Given the description of an element on the screen output the (x, y) to click on. 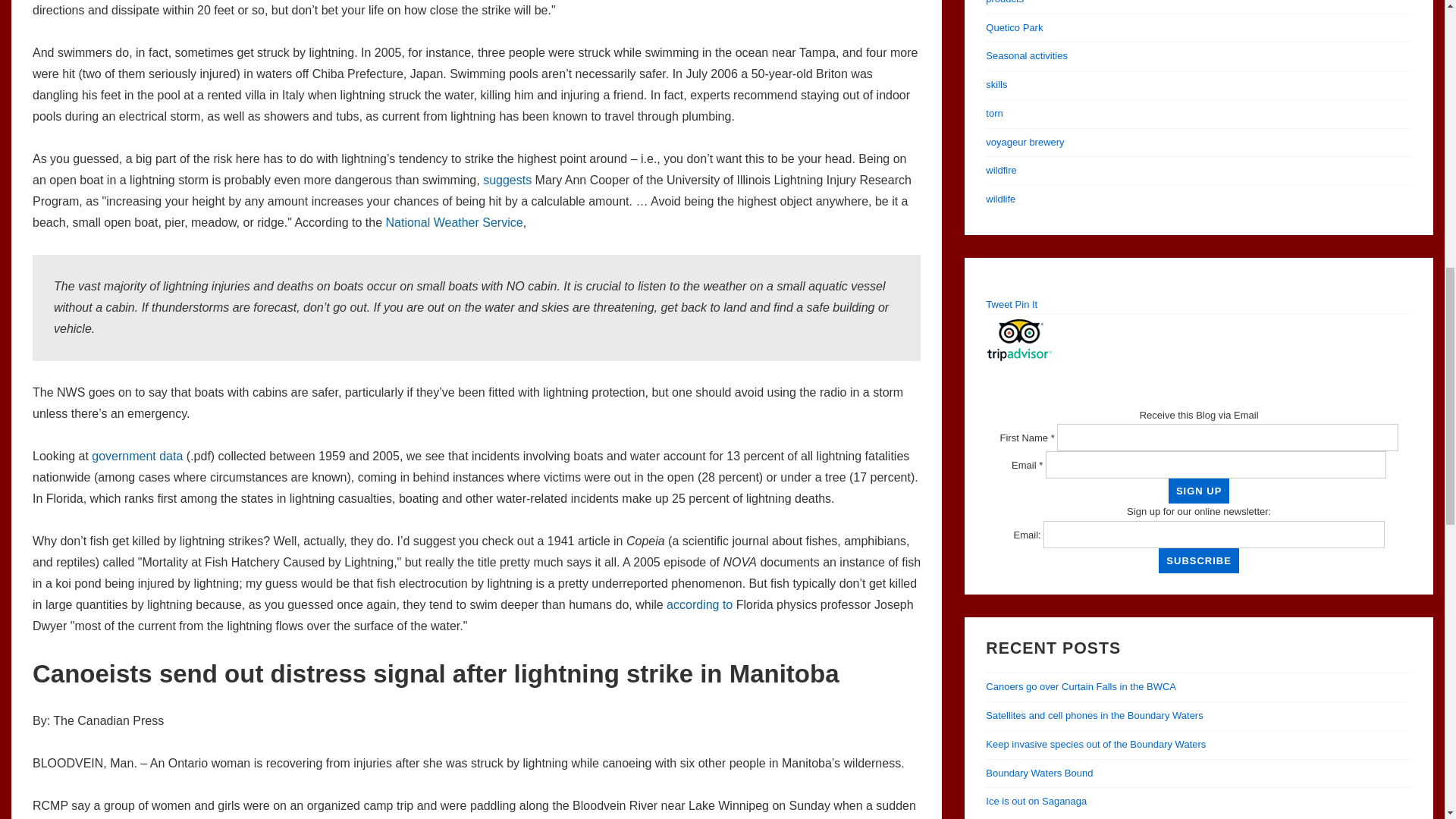
Seasonal activities (1026, 55)
government data (137, 455)
torn (994, 112)
Tweet (998, 304)
voyageur brewery (1024, 142)
Subscribe (1198, 560)
skills (996, 84)
Sign Up (1198, 490)
wildfire (1000, 170)
products (1004, 2)
suggests (507, 179)
wildlife (999, 198)
Pin It (1026, 304)
National Weather Service (453, 222)
Quetico Park (1013, 27)
